Given the description of an element on the screen output the (x, y) to click on. 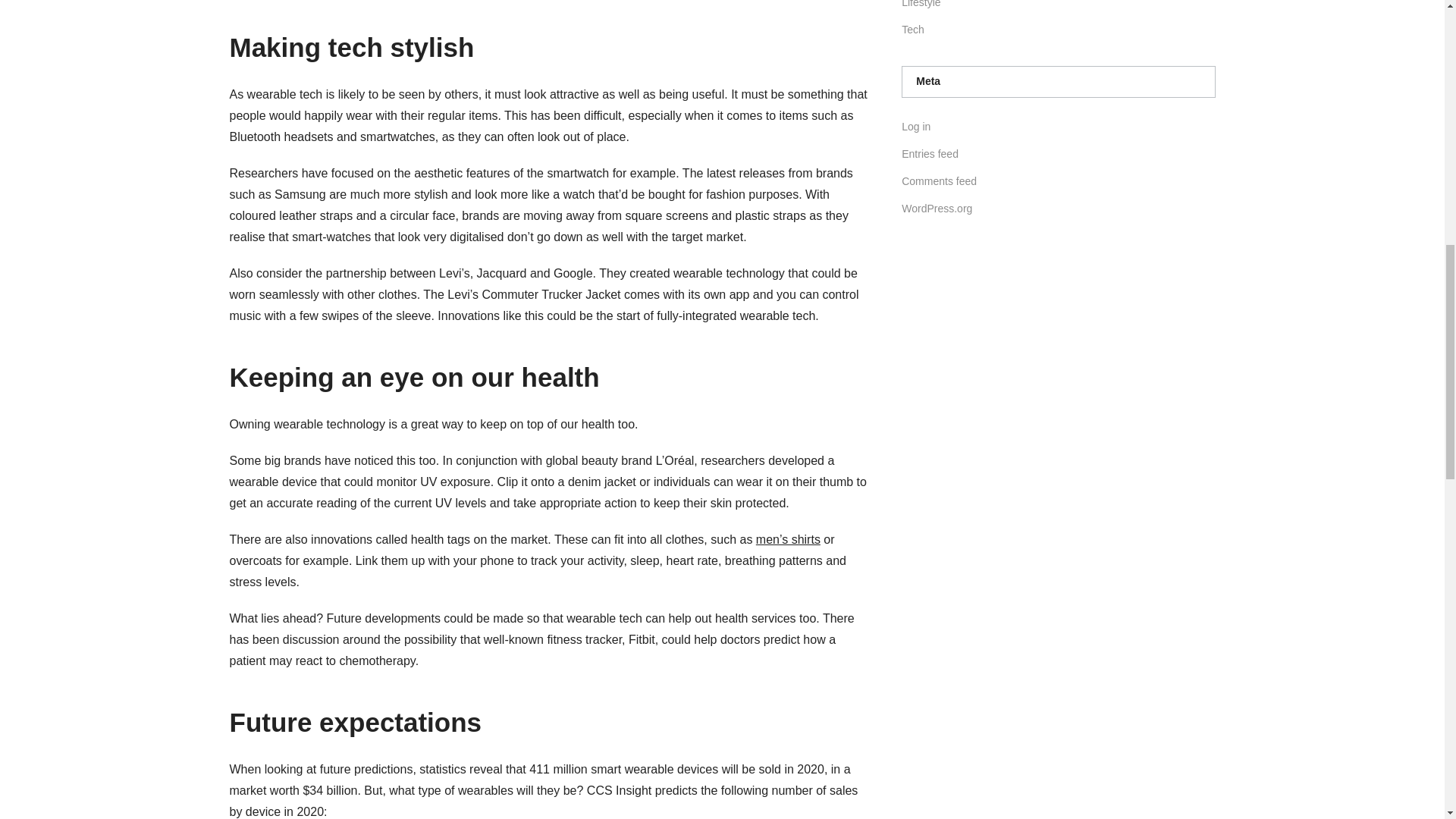
Log in (915, 126)
Lifestyle (920, 4)
Entries feed (929, 153)
Tech (912, 29)
